Given the description of an element on the screen output the (x, y) to click on. 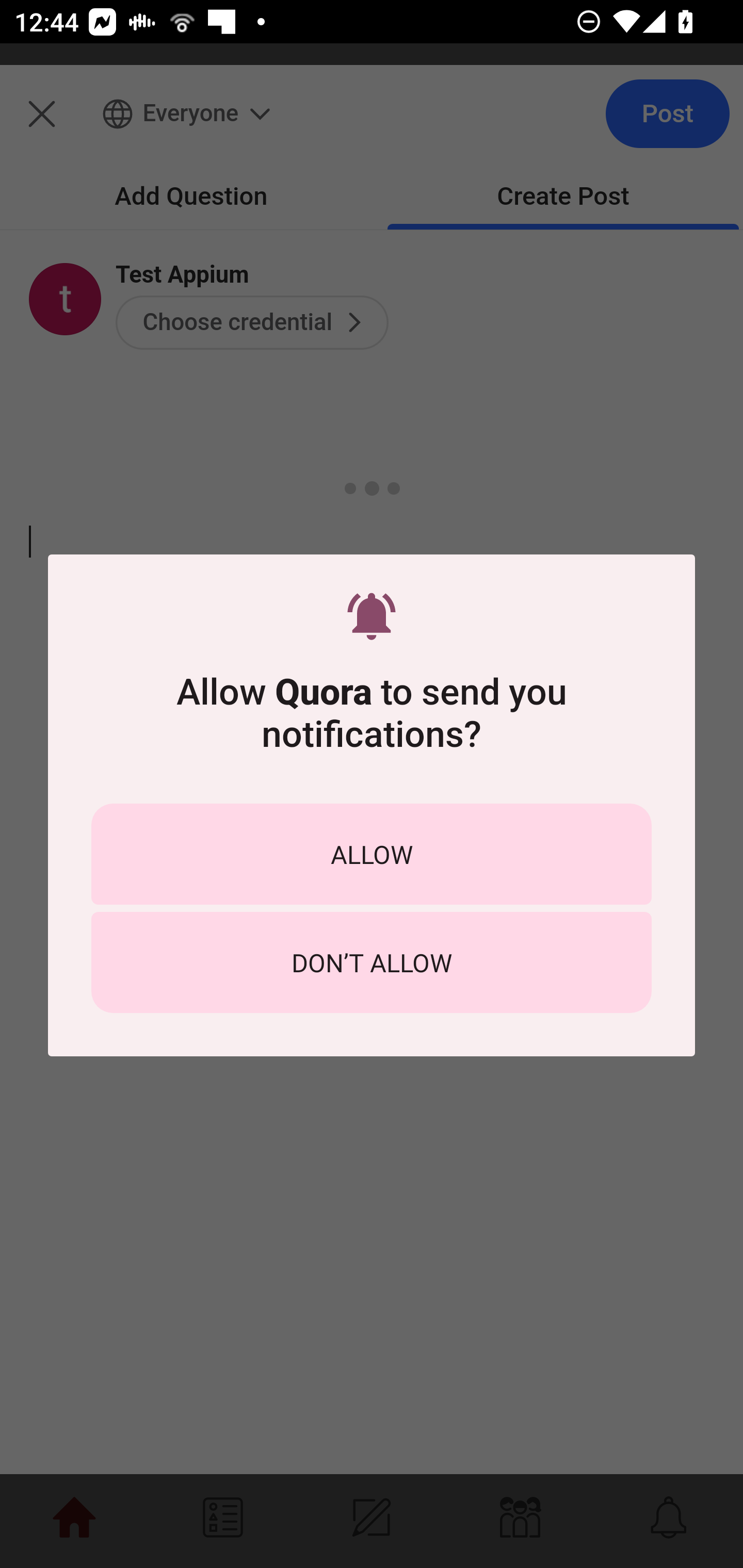
ALLOW (371, 853)
DON’T ALLOW (371, 962)
